Given the description of an element on the screen output the (x, y) to click on. 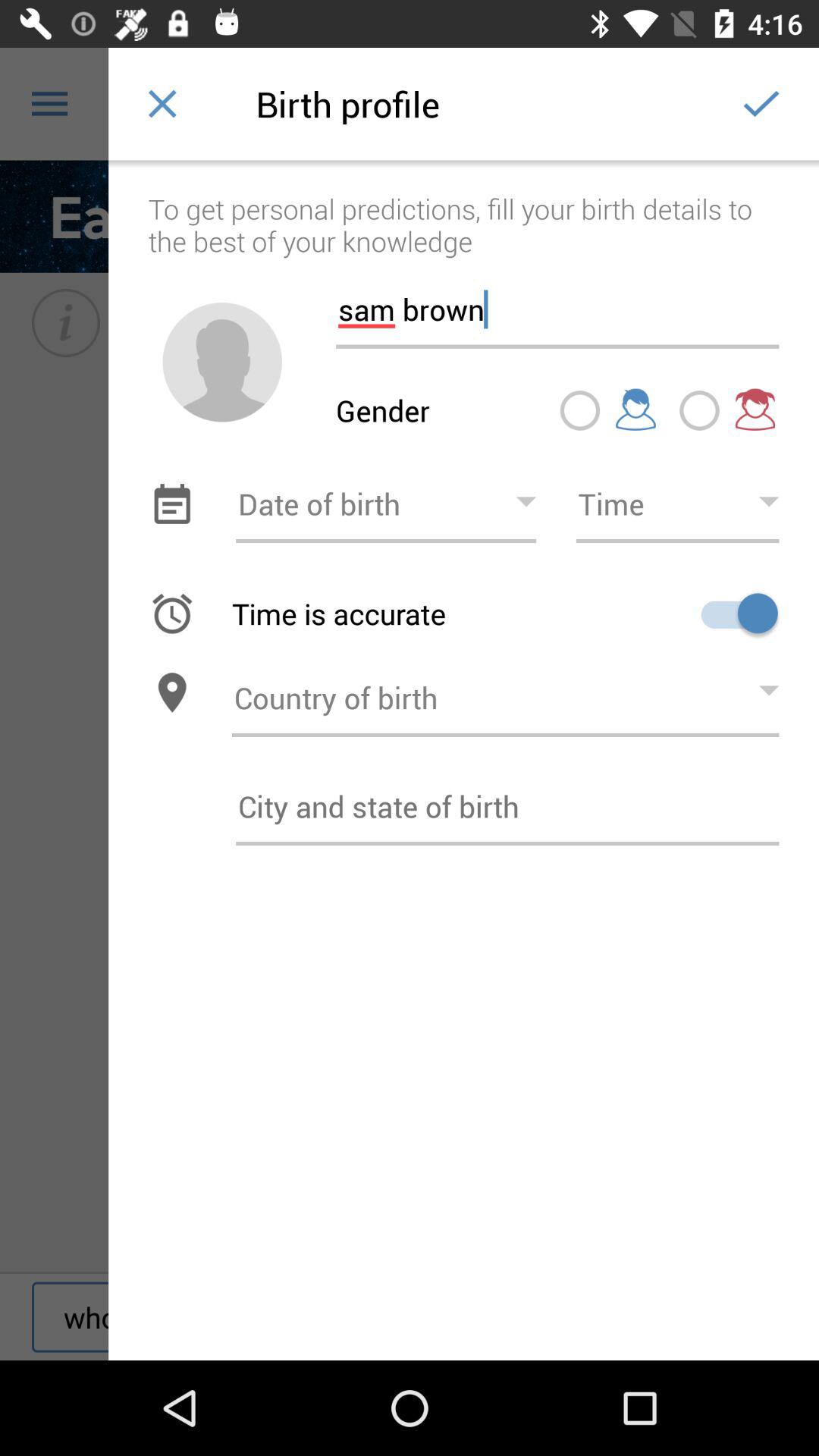
open the item to the left of sam brown item (222, 362)
